Given the description of an element on the screen output the (x, y) to click on. 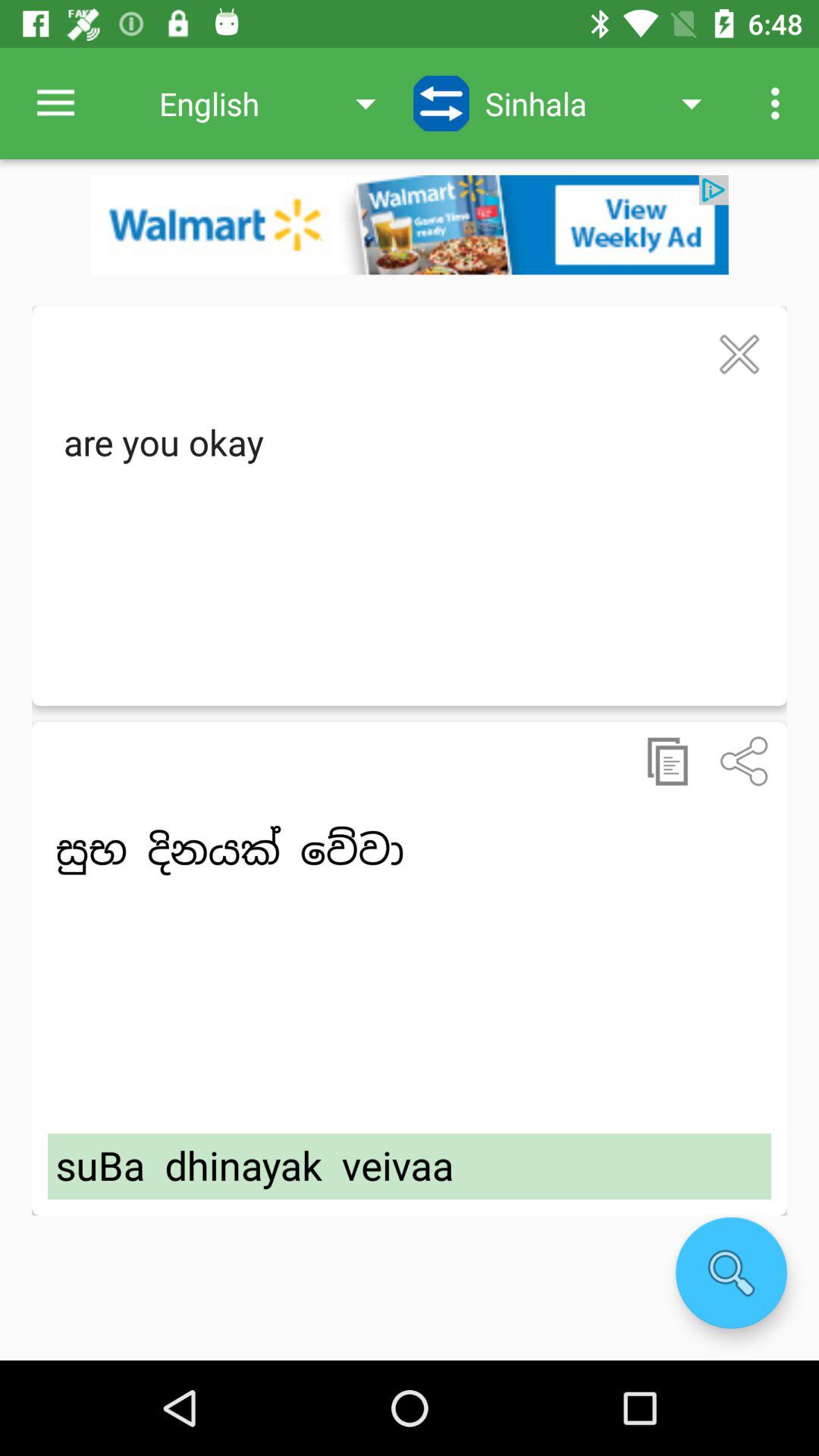
select walmart advertisement (409, 224)
